Given the description of an element on the screen output the (x, y) to click on. 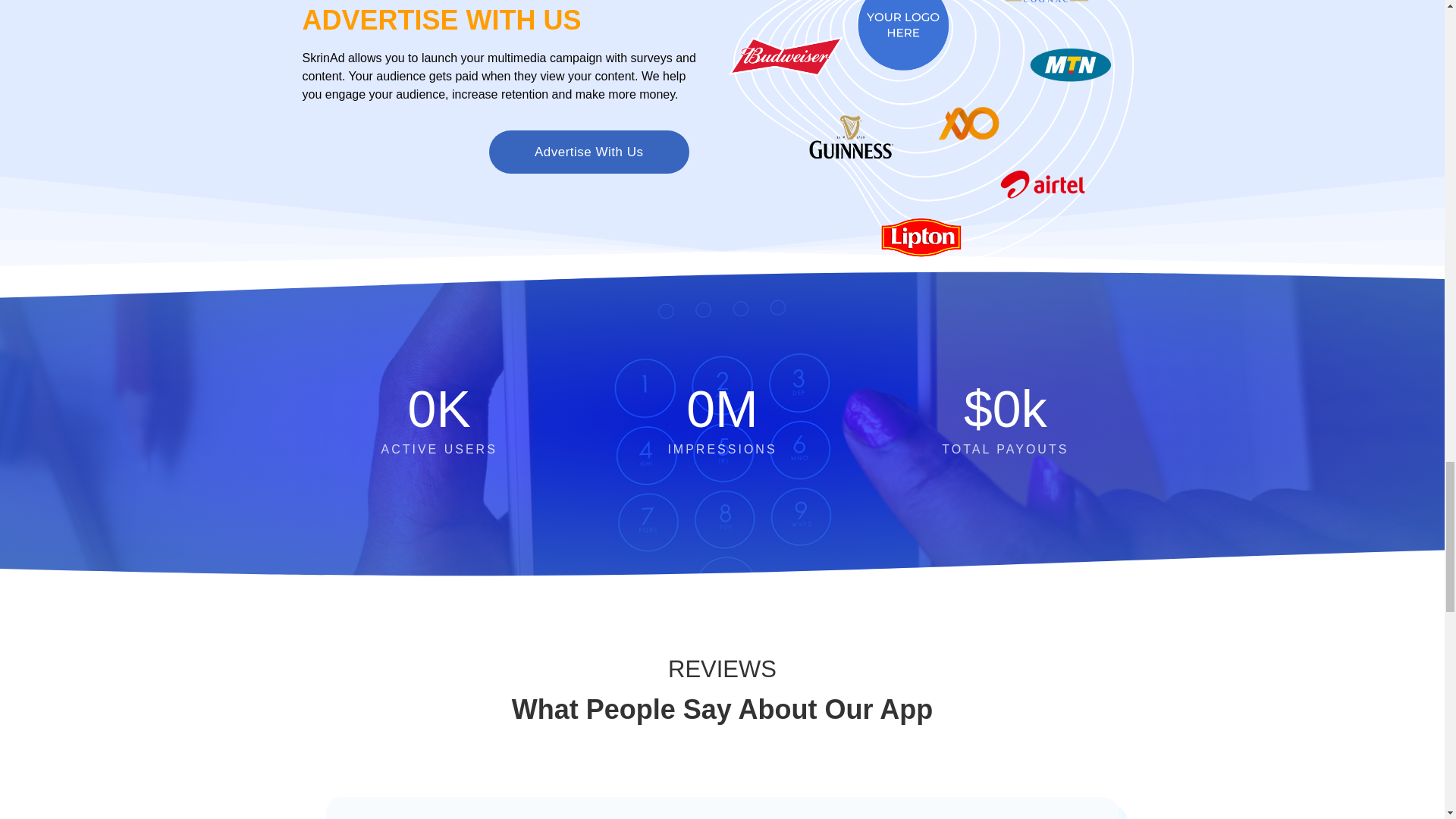
Advertise With Us (588, 152)
